Given the description of an element on the screen output the (x, y) to click on. 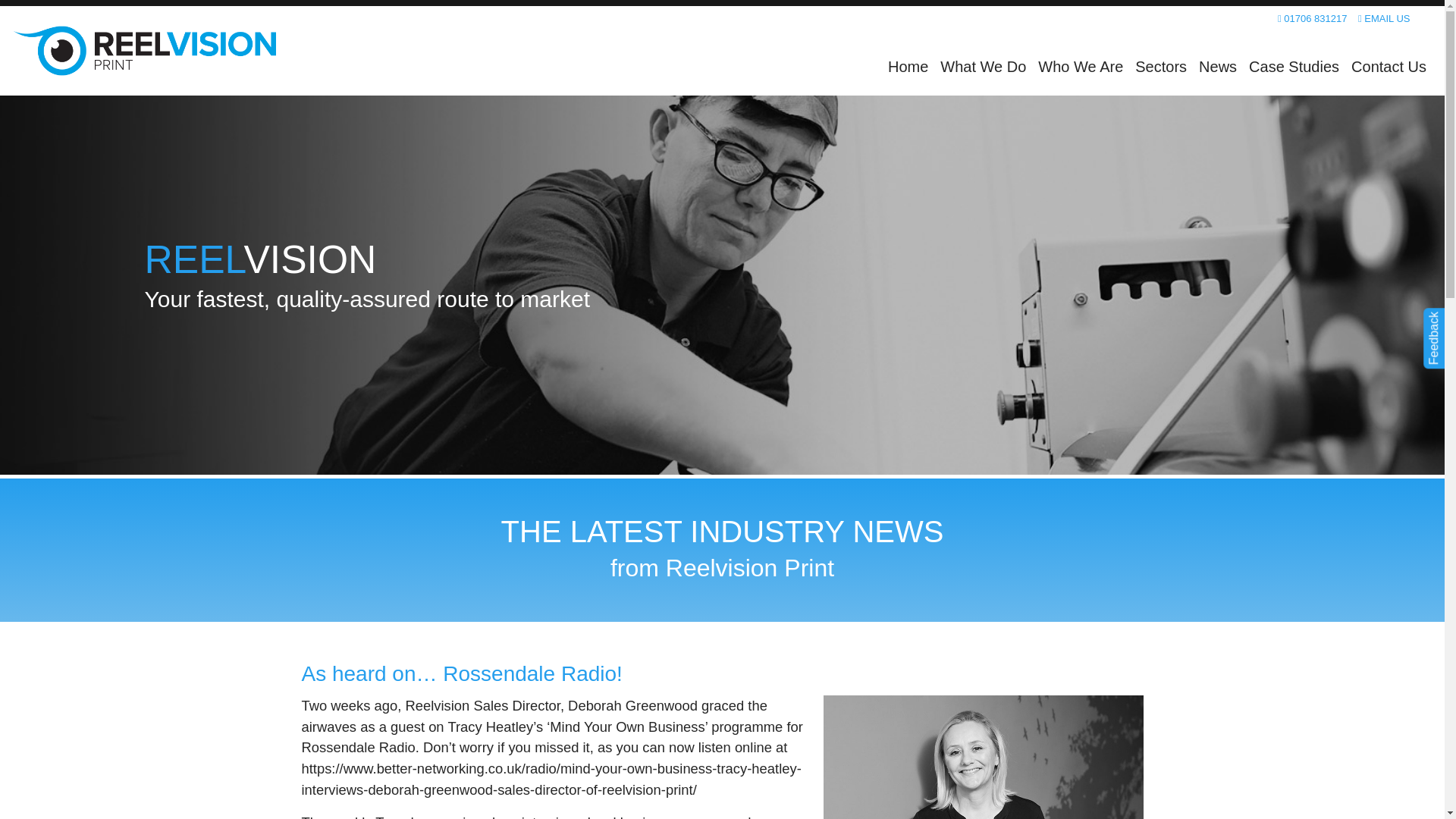
Sectors (1160, 66)
News (1217, 66)
Reelvision Print (144, 51)
Contact Us (1388, 66)
As heard on... Rossendale Radio! (983, 757)
What We Do (983, 66)
EMAIL US (1384, 18)
Case Studies (1294, 66)
Home (908, 66)
Reelvision Print (144, 50)
